Given the description of an element on the screen output the (x, y) to click on. 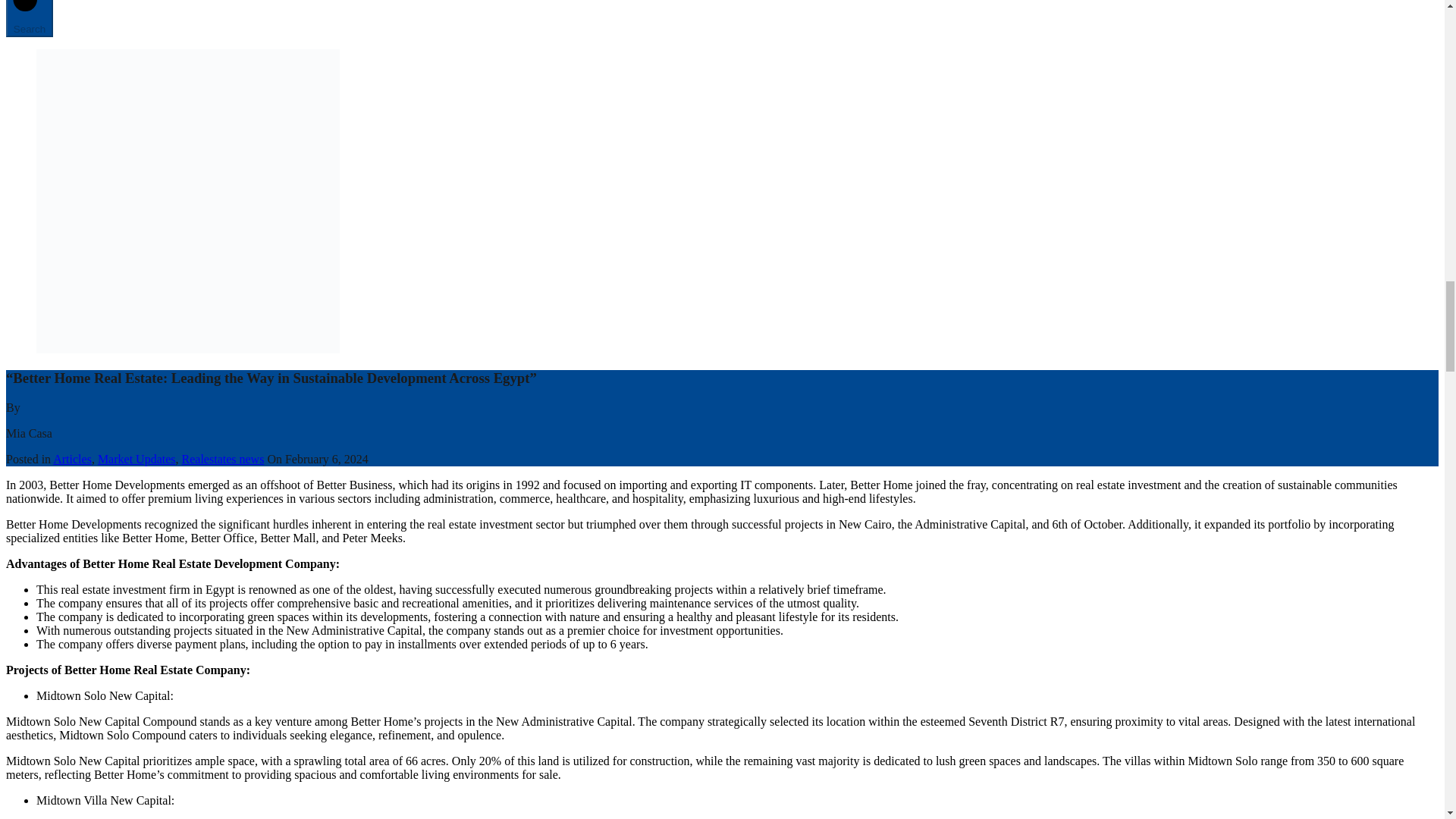
Market Updates (136, 459)
Realestates news (223, 459)
Search (28, 18)
Articles (71, 459)
